Given the description of an element on the screen output the (x, y) to click on. 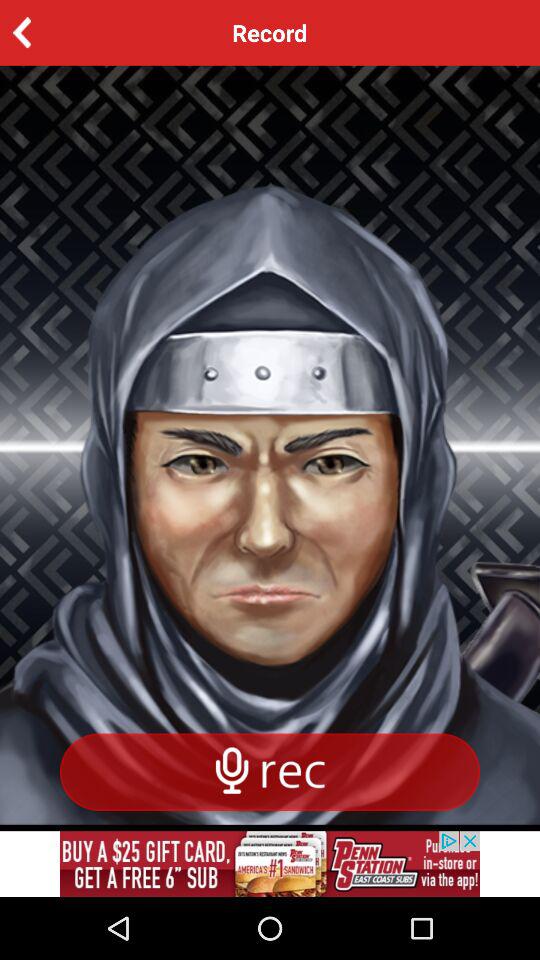
speech rec the article (270, 771)
